Given the description of an element on the screen output the (x, y) to click on. 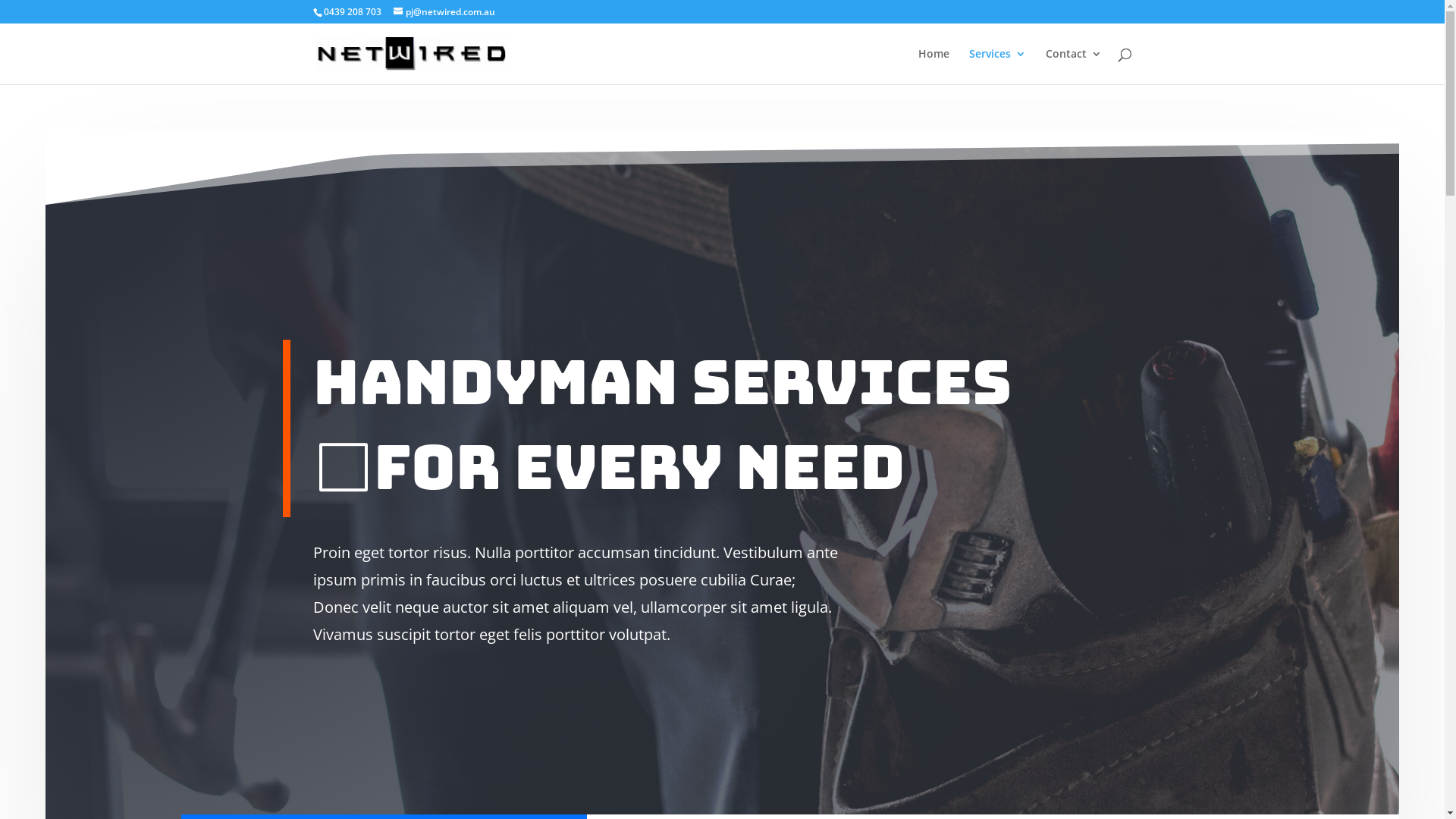
Services Element type: text (997, 66)
pj@netwired.com.au Element type: text (443, 11)
Home Element type: text (932, 66)
Contact Element type: text (1072, 66)
